Given the description of an element on the screen output the (x, y) to click on. 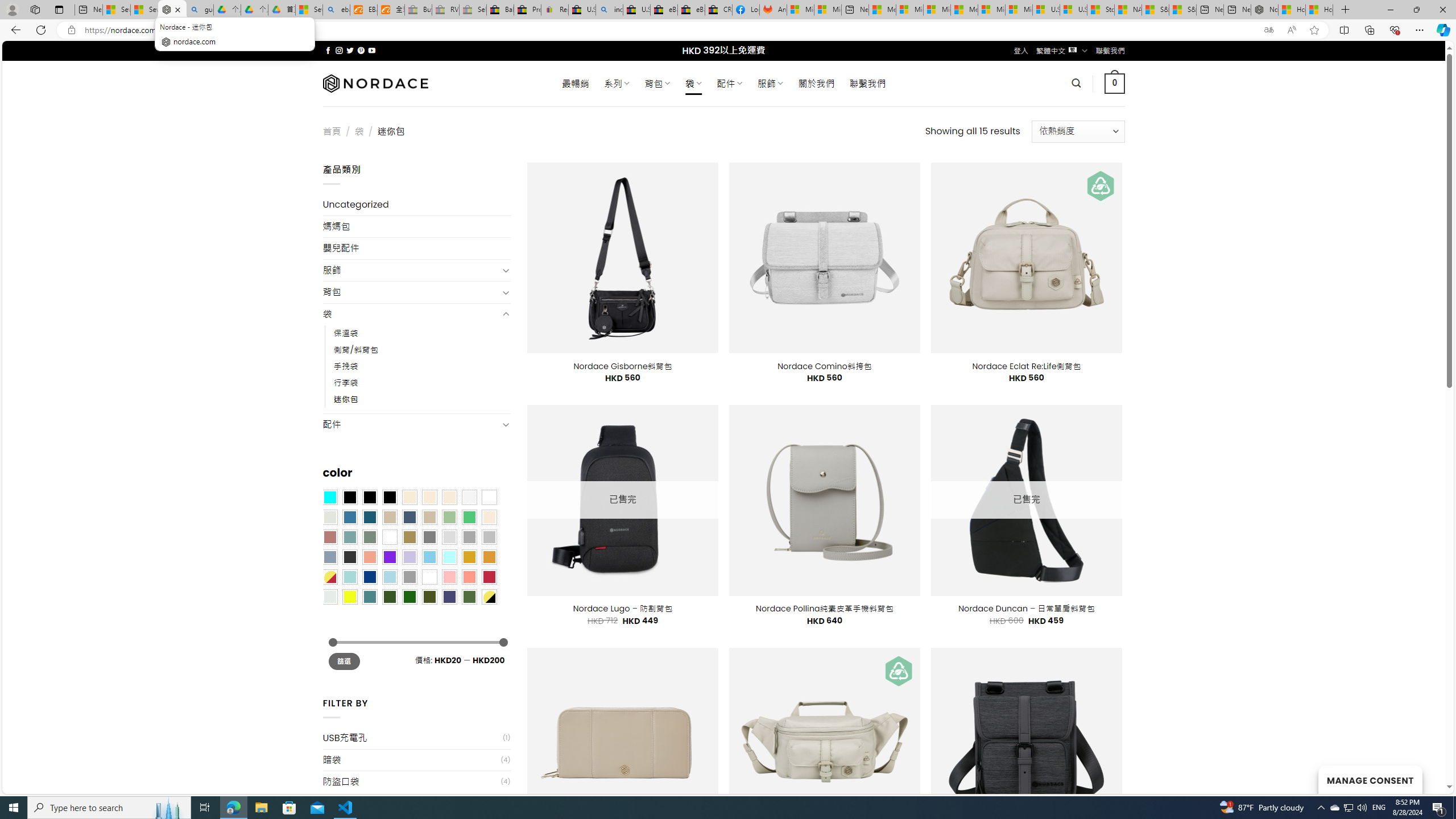
Uncategorized (416, 204)
S&P 500, Nasdaq end lower, weighed by Nvidia dip | Watch (1182, 9)
